Given the description of an element on the screen output the (x, y) to click on. 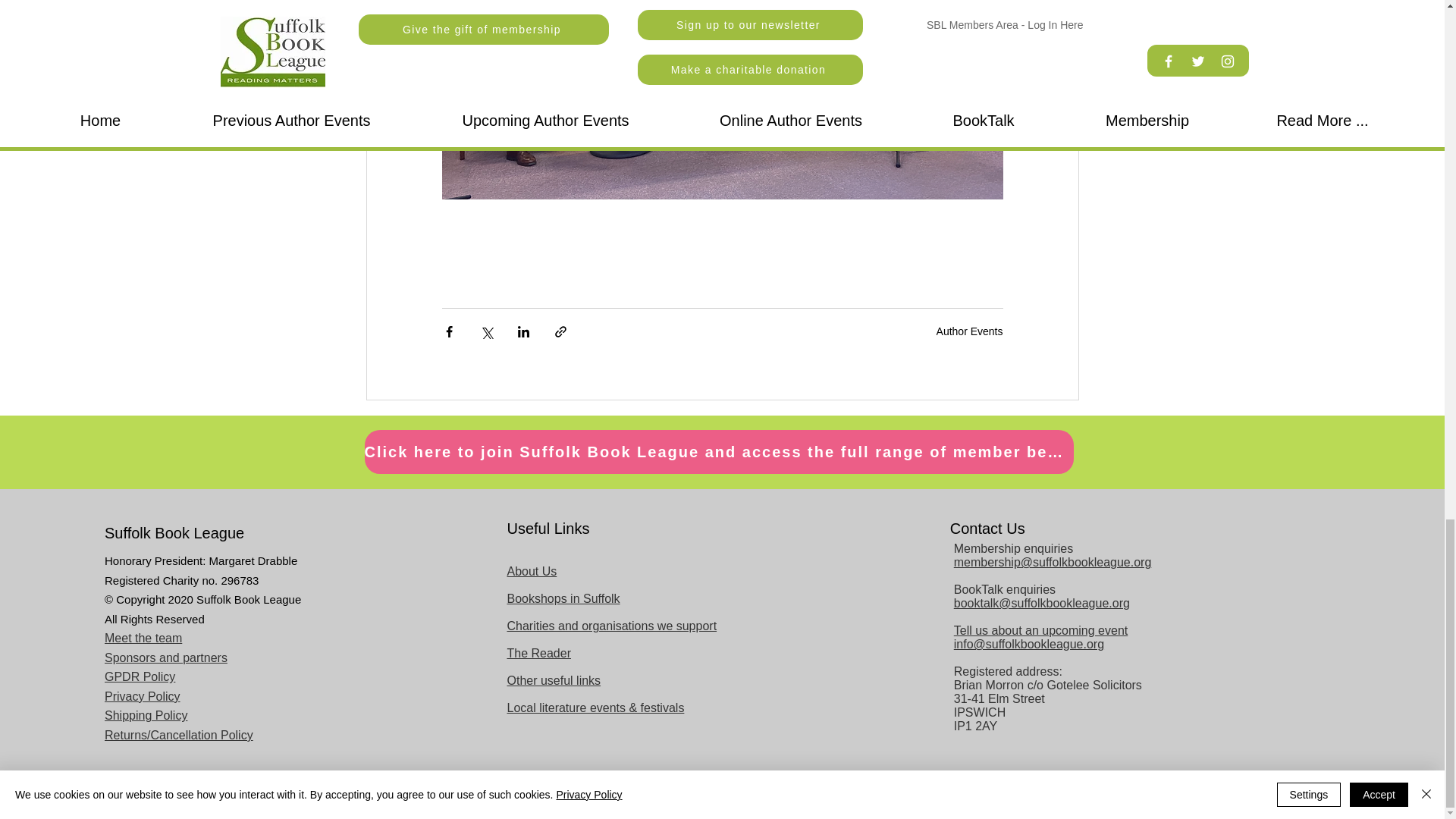
Shipping Policy (145, 715)
GPDR Policy (139, 676)
The Reader (538, 653)
Bookshops in Suffolk (563, 598)
About Us (531, 571)
Sponsors and partners (165, 657)
Author Events (969, 331)
Privacy Policy (142, 696)
Charities and organisations we support (611, 625)
